Given the description of an element on the screen output the (x, y) to click on. 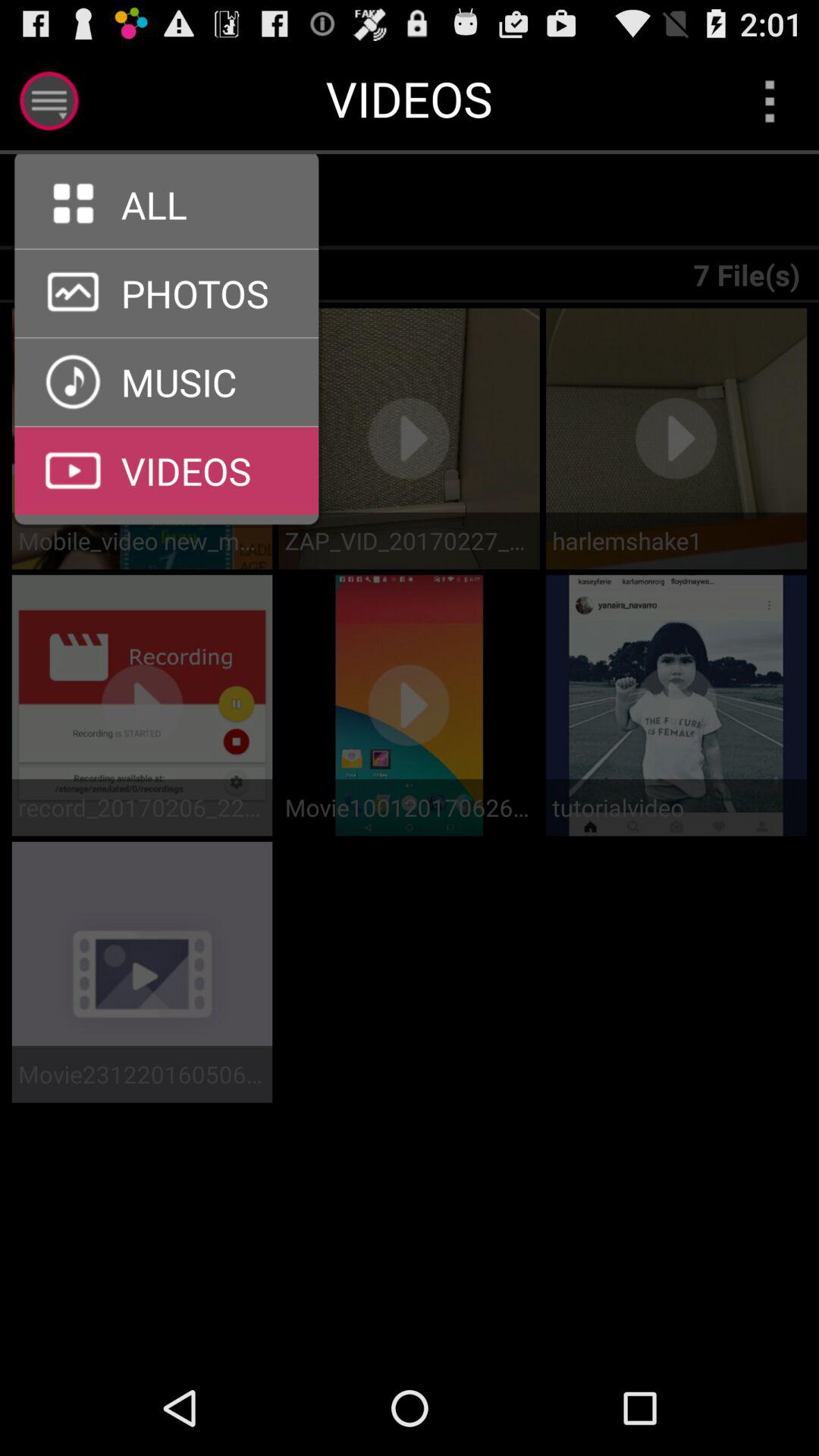
go to dropdown (769, 100)
